Given the description of an element on the screen output the (x, y) to click on. 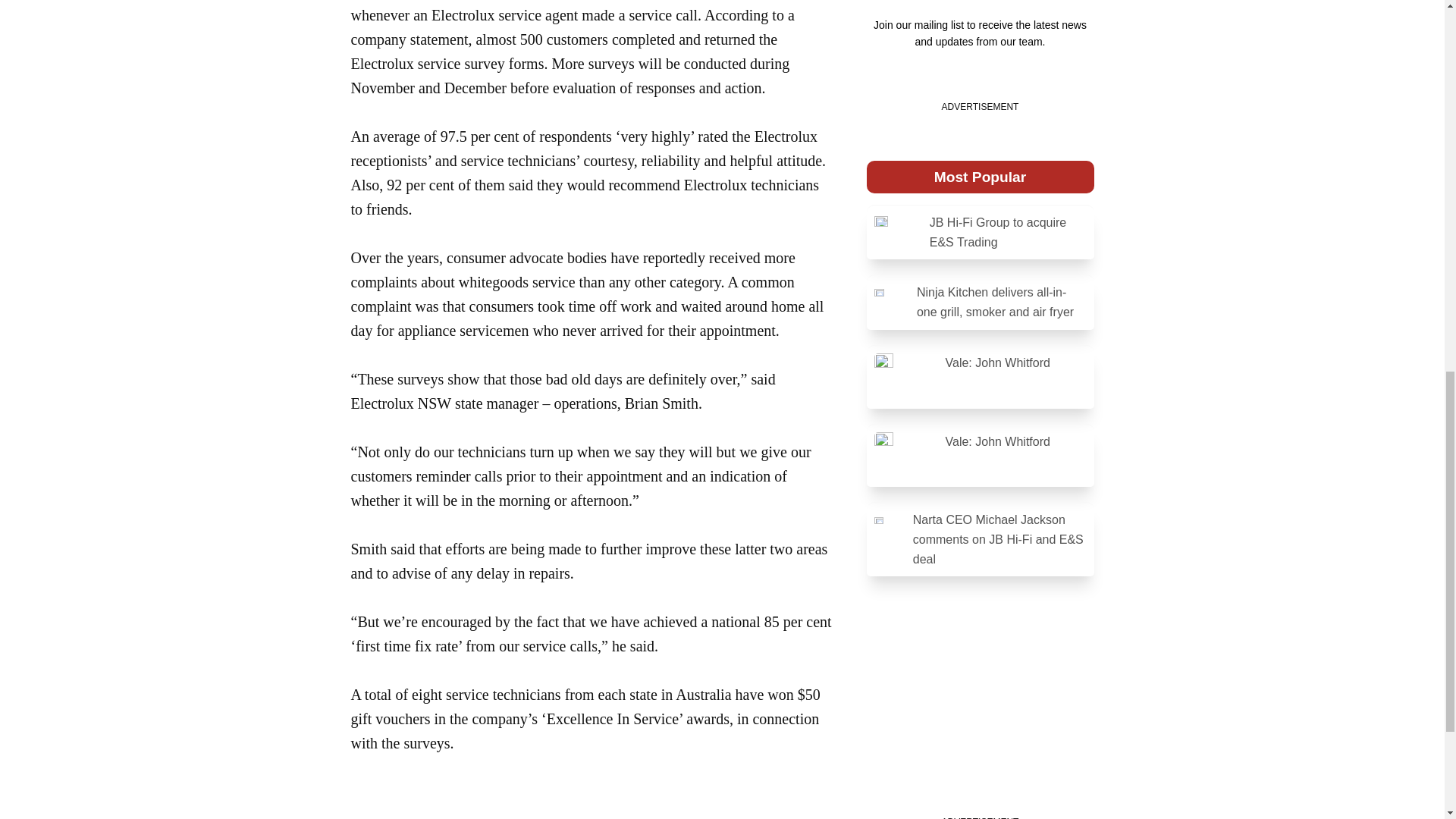
Vale: John Whitford (979, 376)
Vale: John Whitford (979, 455)
